Given the description of an element on the screen output the (x, y) to click on. 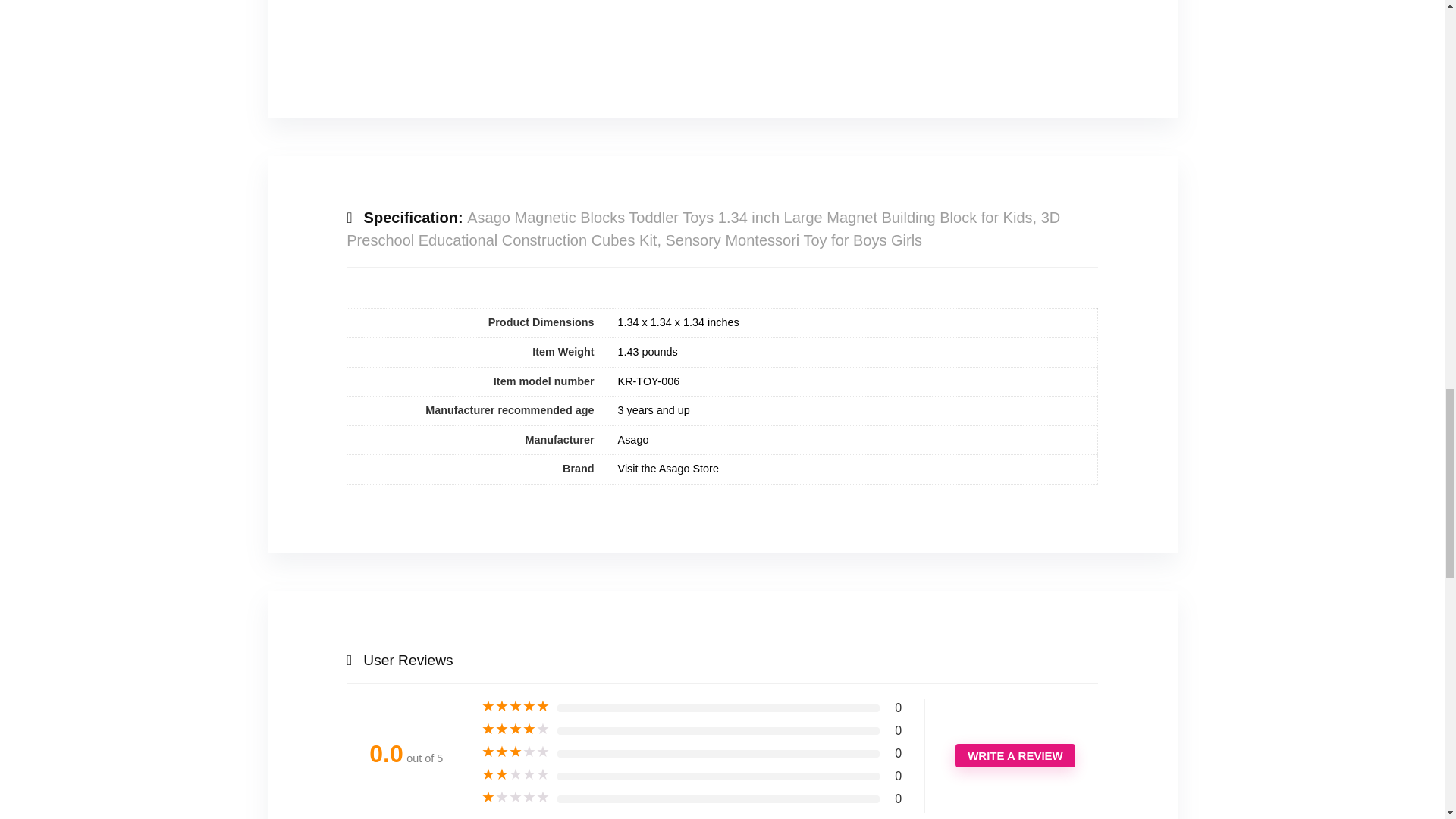
Rated 5 out of 5 (515, 706)
Rated 4 out of 5 (515, 729)
Rated 3 out of 5 (515, 752)
Rated 1 out of 5 (515, 797)
WRITE A REVIEW (1015, 755)
Rated 2 out of 5 (515, 774)
